Given the description of an element on the screen output the (x, y) to click on. 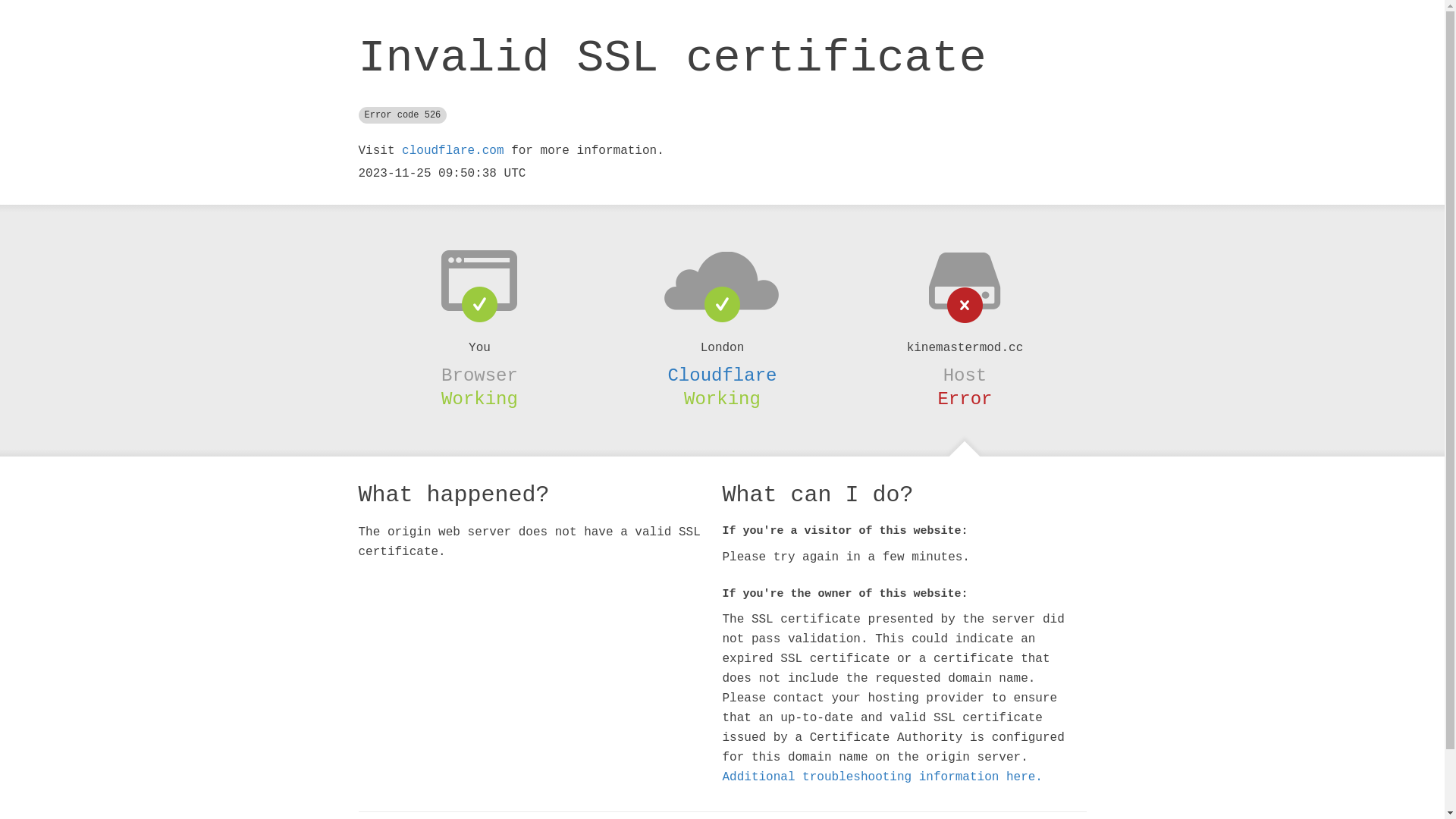
cloudflare.com Element type: text (452, 150)
Cloudflare Element type: text (721, 375)
Additional troubleshooting information here. Element type: text (881, 777)
